Given the description of an element on the screen output the (x, y) to click on. 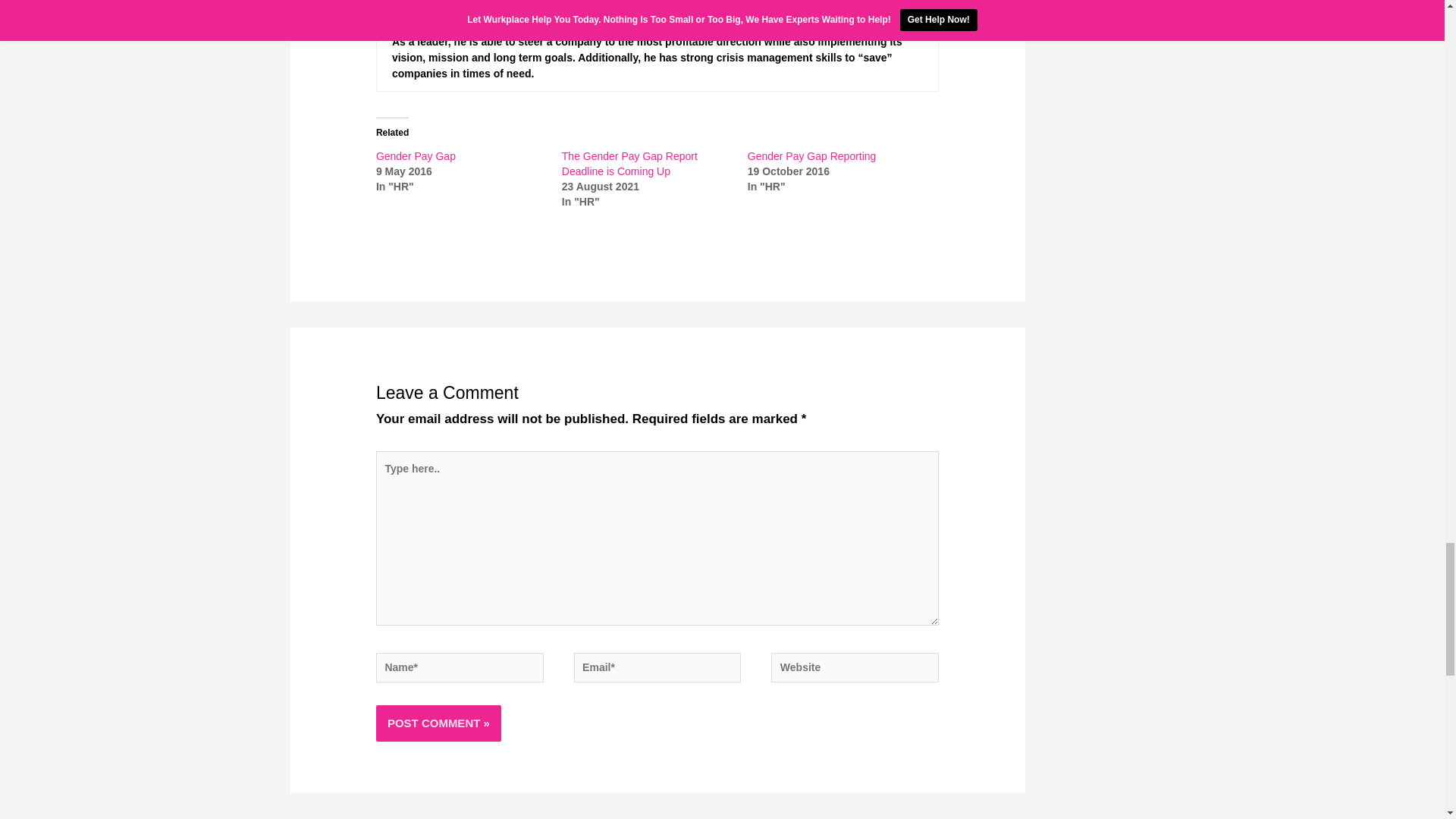
Gender Pay Gap (415, 155)
Gender Pay Gap Reporting (812, 155)
The Gender Pay Gap Report Deadline is Coming Up (629, 163)
